Given the description of an element on the screen output the (x, y) to click on. 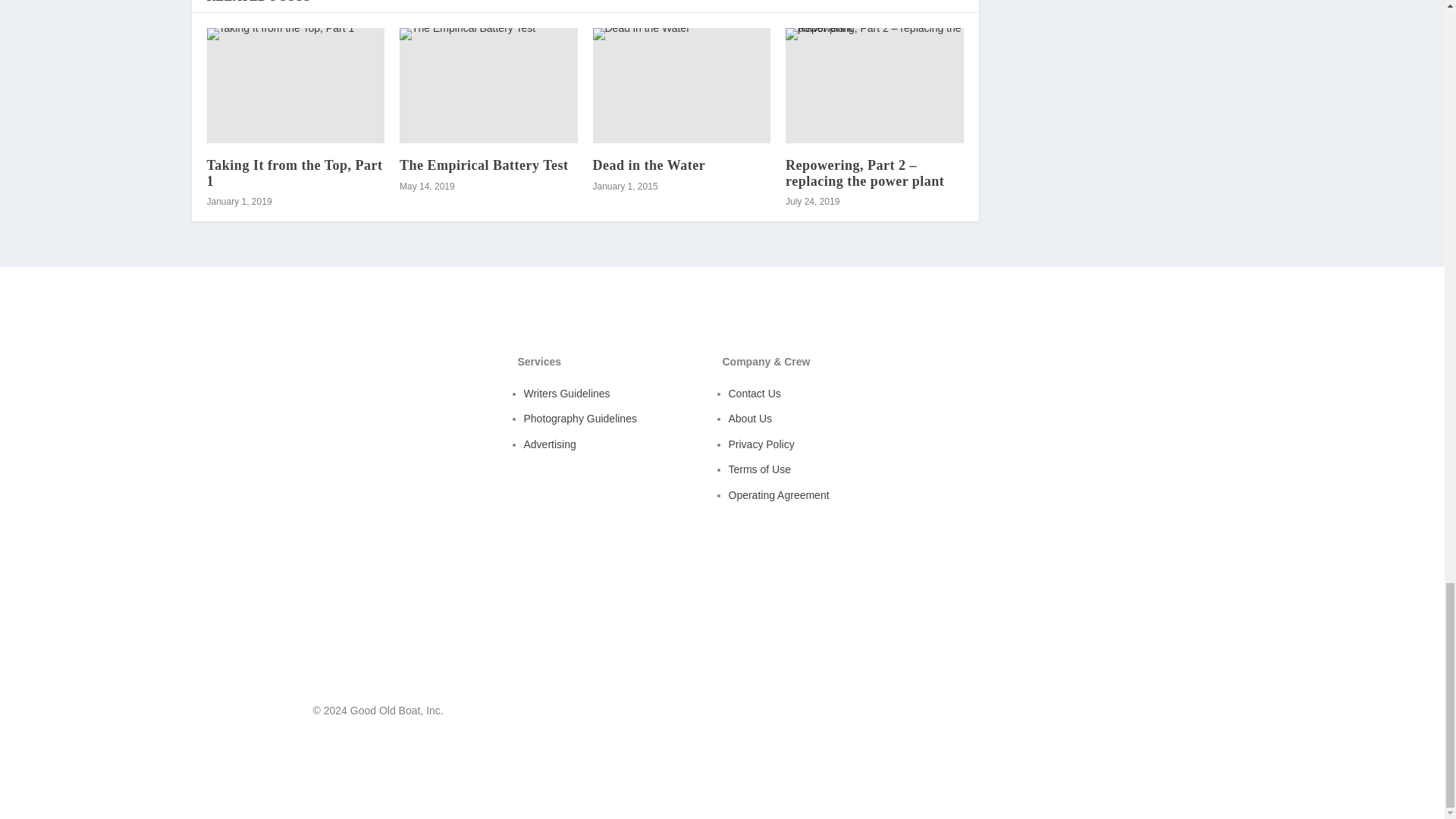
Follow on Facebook (1088, 713)
The Empirical Battery Test (488, 85)
Taking It from the Top, Part 1 (295, 85)
Dead in the Water (681, 85)
Dead in the Water (649, 165)
The Empirical Battery Test (483, 165)
Taking It from the Top, Part 1 (293, 173)
Follow on Youtube (1118, 713)
